Given the description of an element on the screen output the (x, y) to click on. 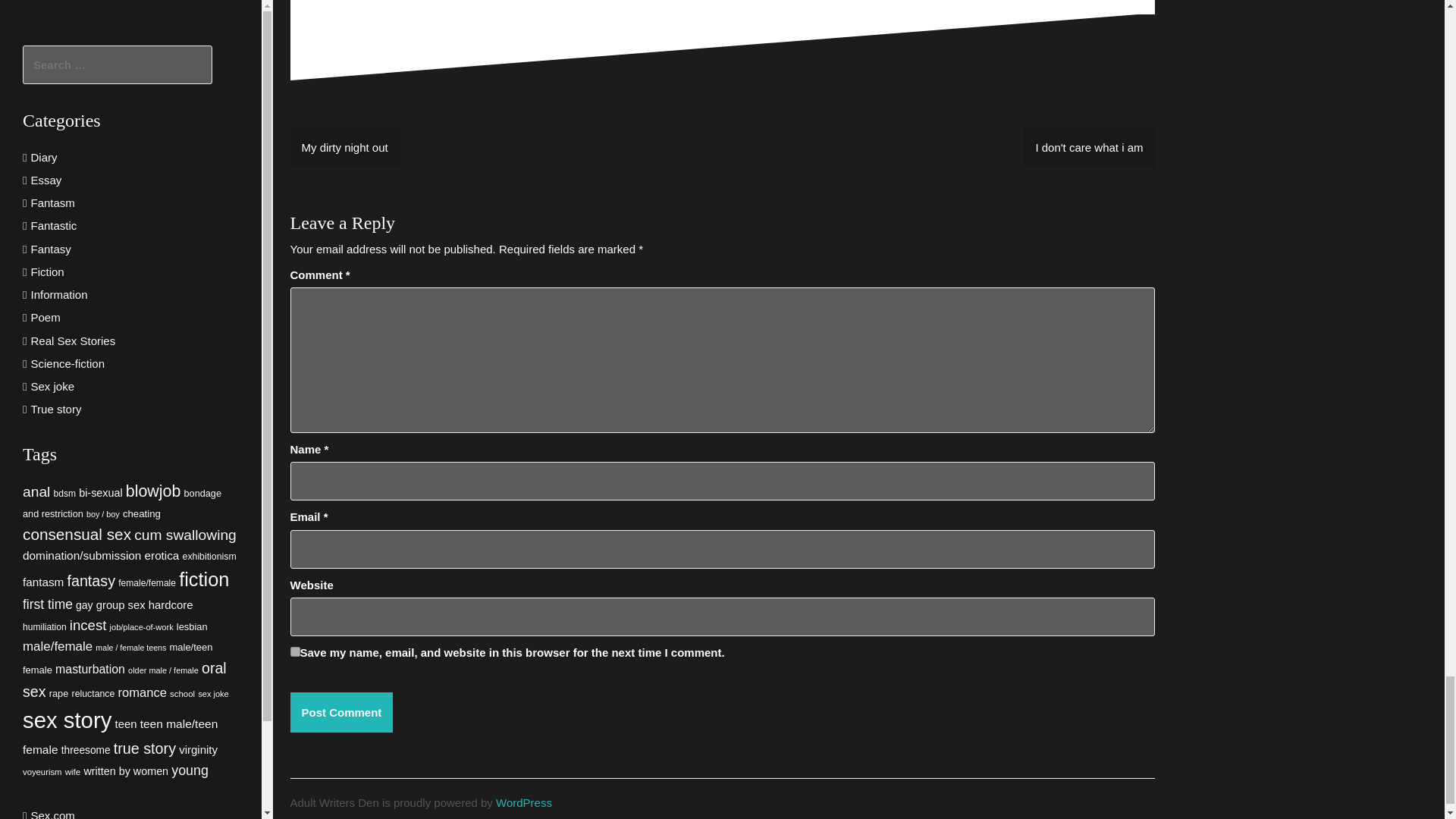
I don't care what i am (1088, 146)
yes (294, 651)
Post Comment (341, 712)
Post Comment (341, 712)
My dirty night out (344, 146)
